Given the description of an element on the screen output the (x, y) to click on. 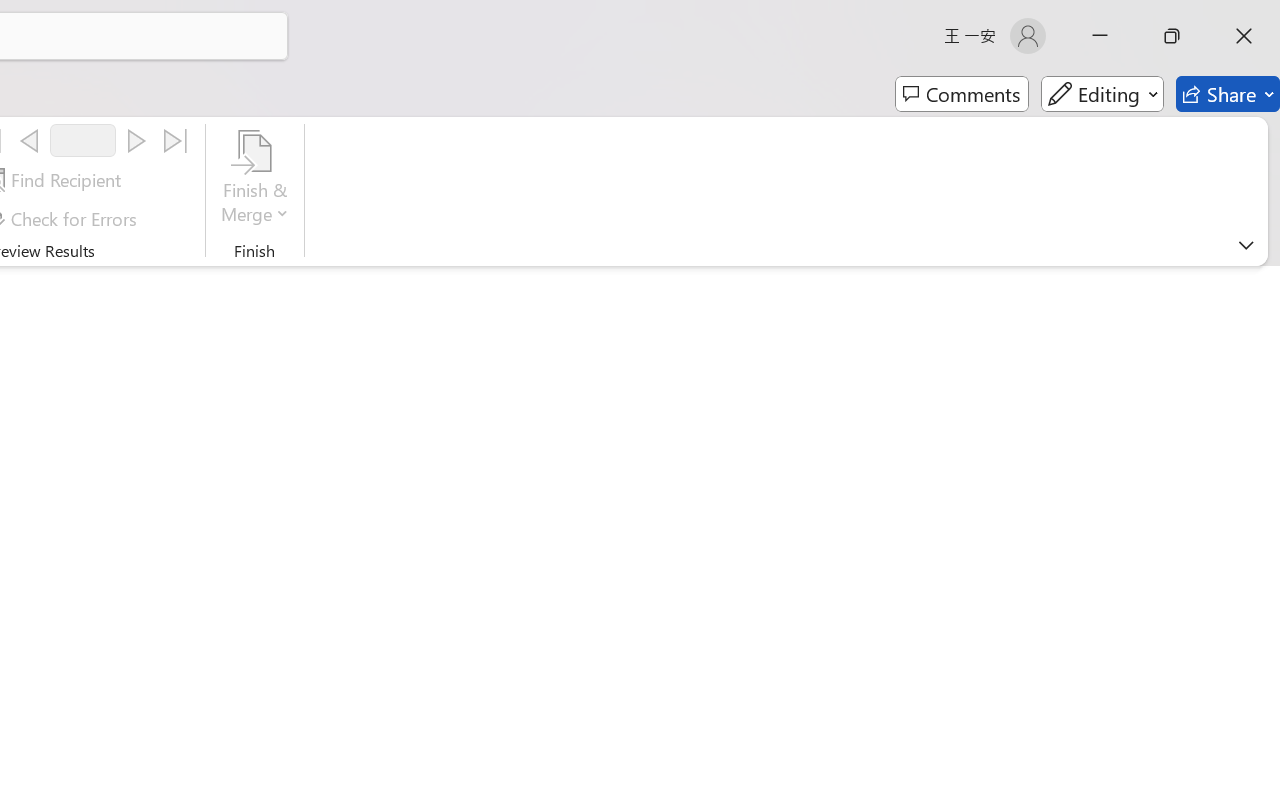
Record (83, 140)
Ribbon Display Options (1246, 245)
Last (175, 141)
Restore Down (1172, 36)
Previous (29, 141)
Close (1244, 36)
Share (1228, 94)
Finish & Merge (255, 179)
Comments (961, 94)
Minimize (1099, 36)
Editing (1101, 94)
Next (136, 141)
